Given the description of an element on the screen output the (x, y) to click on. 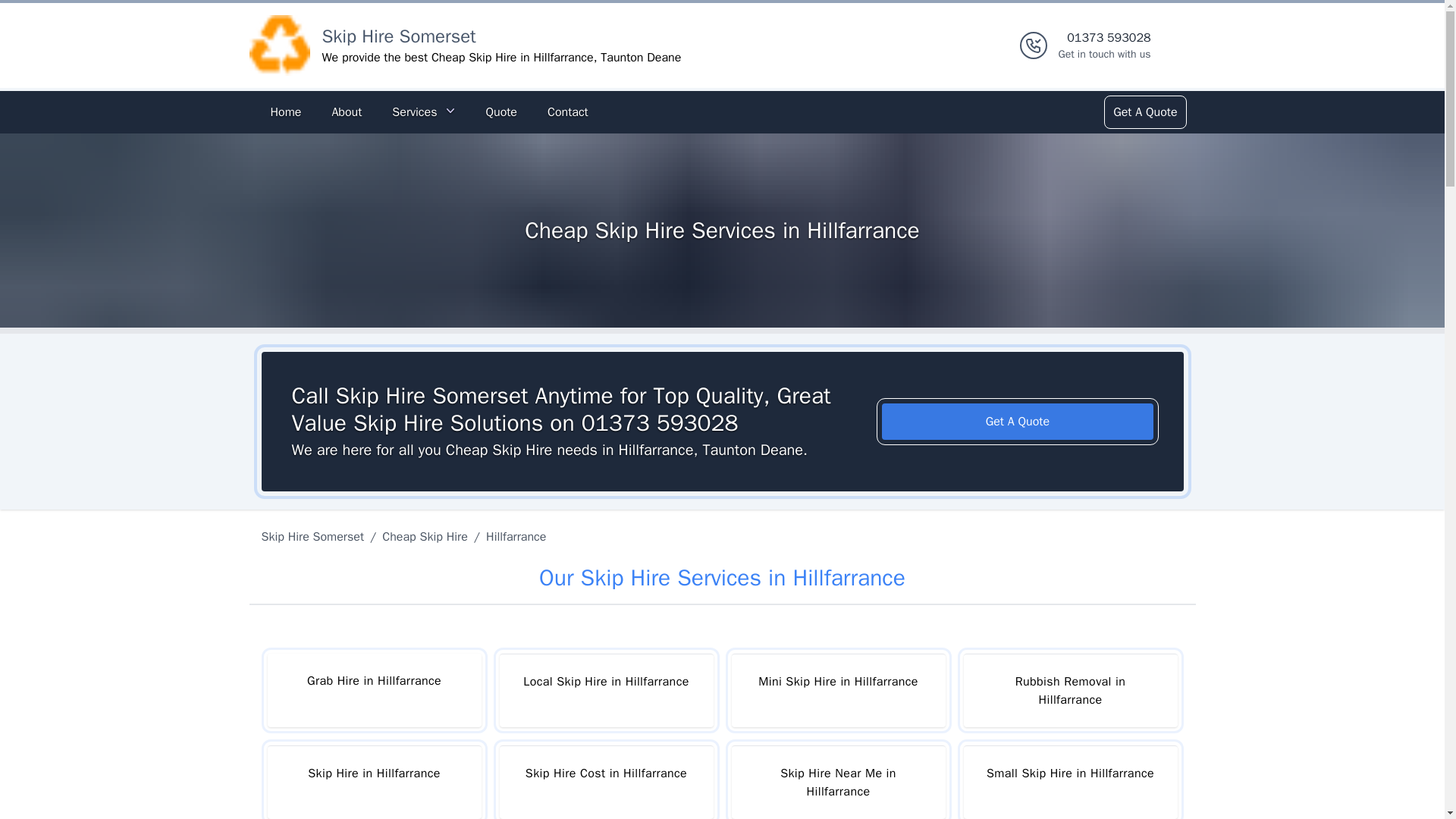
Skip Hire Near Me in Hillfarrance (837, 782)
Get A Quote (1017, 421)
Skip Hire Somerset (314, 536)
Skip Hire Somerset (398, 36)
Skip Hire in Hillfarrance (373, 782)
Cheap Skip Hire (424, 536)
Rubbish Removal in Hillfarrance (1069, 690)
Logo (278, 45)
Services (423, 112)
Local Skip Hire in Hillfarrance (606, 690)
